Given the description of an element on the screen output the (x, y) to click on. 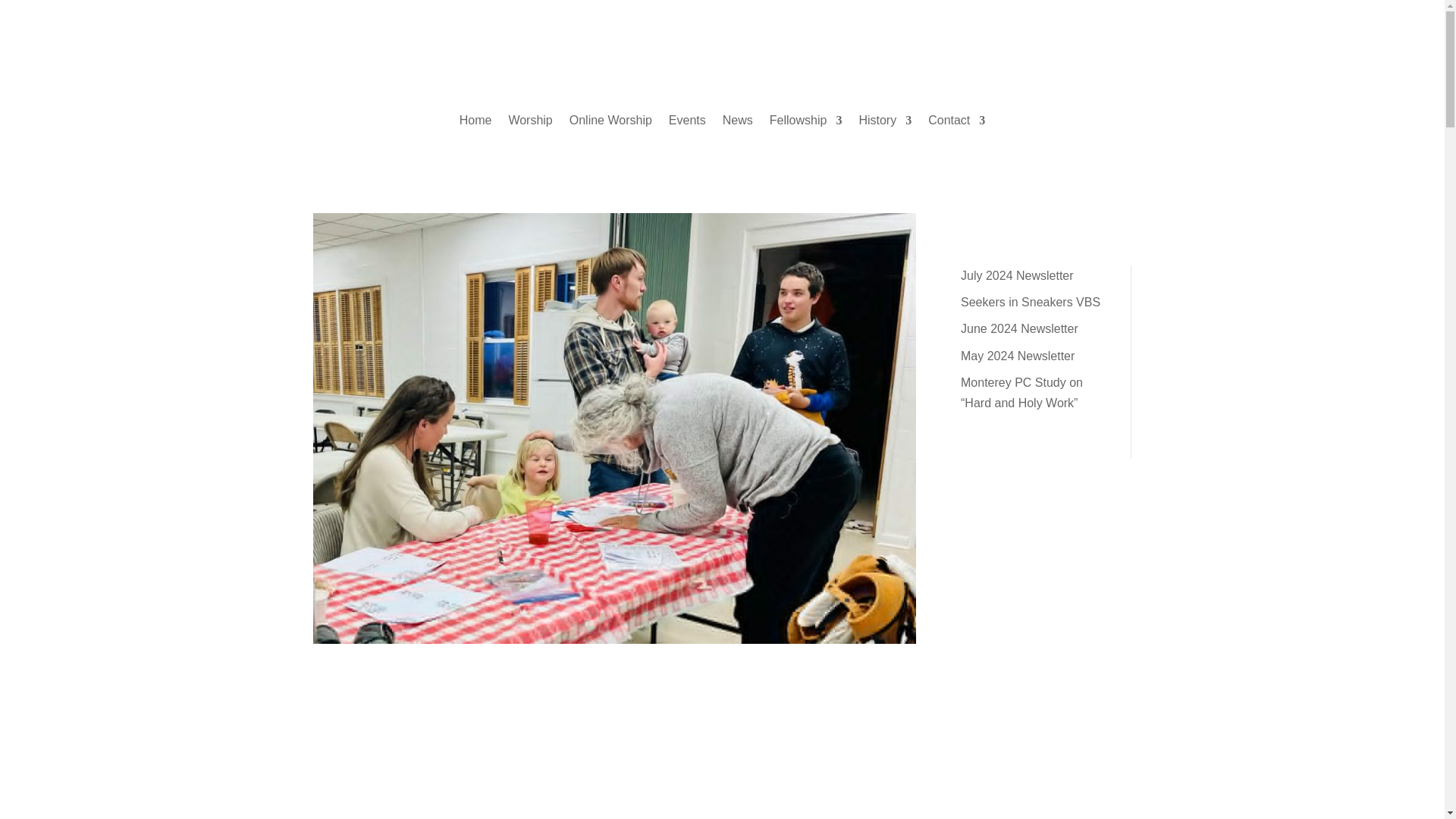
Online Worship (610, 123)
News (737, 123)
Fellowship (806, 123)
Worship (529, 123)
History (885, 123)
Events (687, 123)
Home (476, 123)
Contact (956, 123)
